Given the description of an element on the screen output the (x, y) to click on. 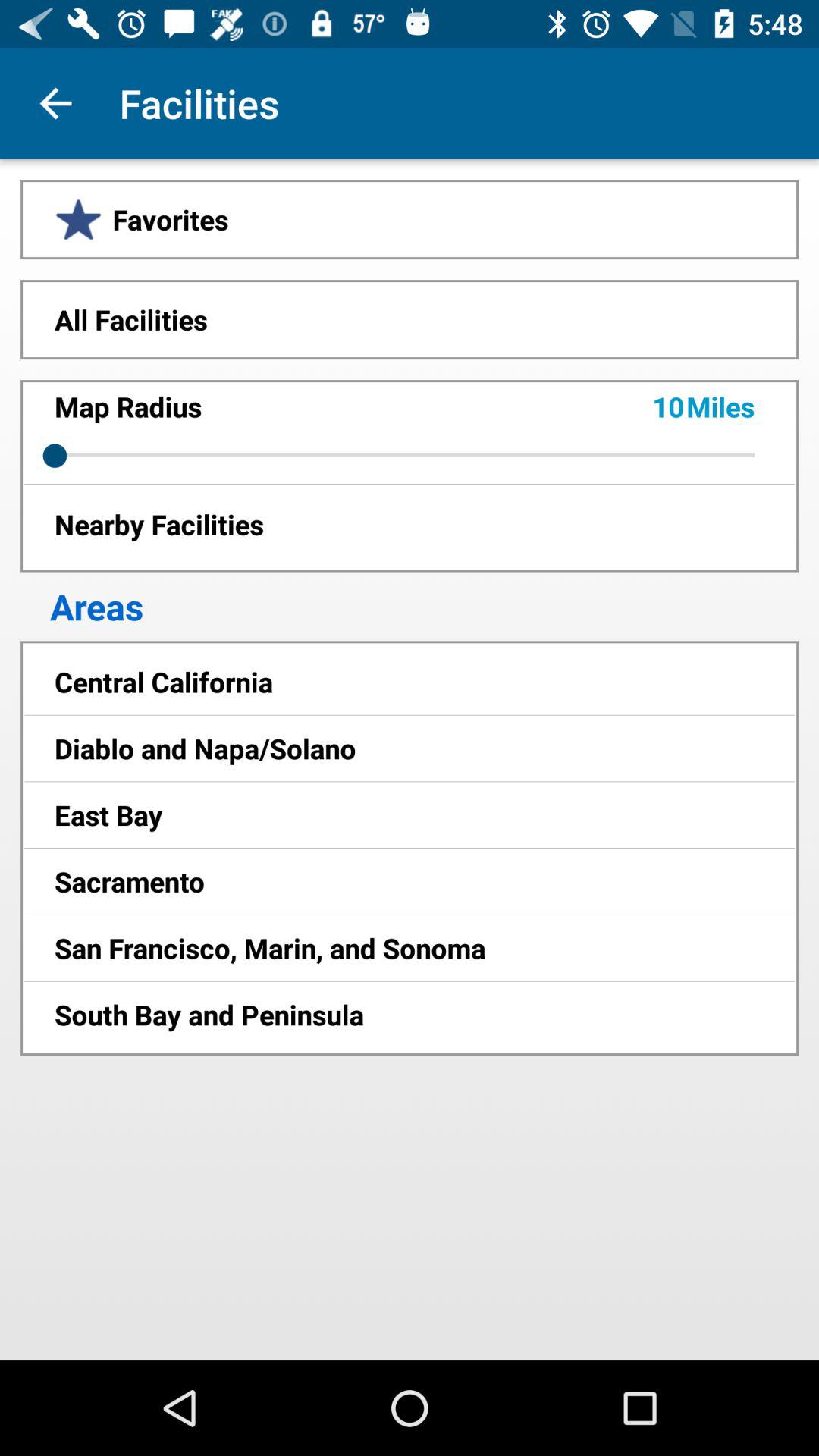
turn on favorites icon (409, 219)
